Given the description of an element on the screen output the (x, y) to click on. 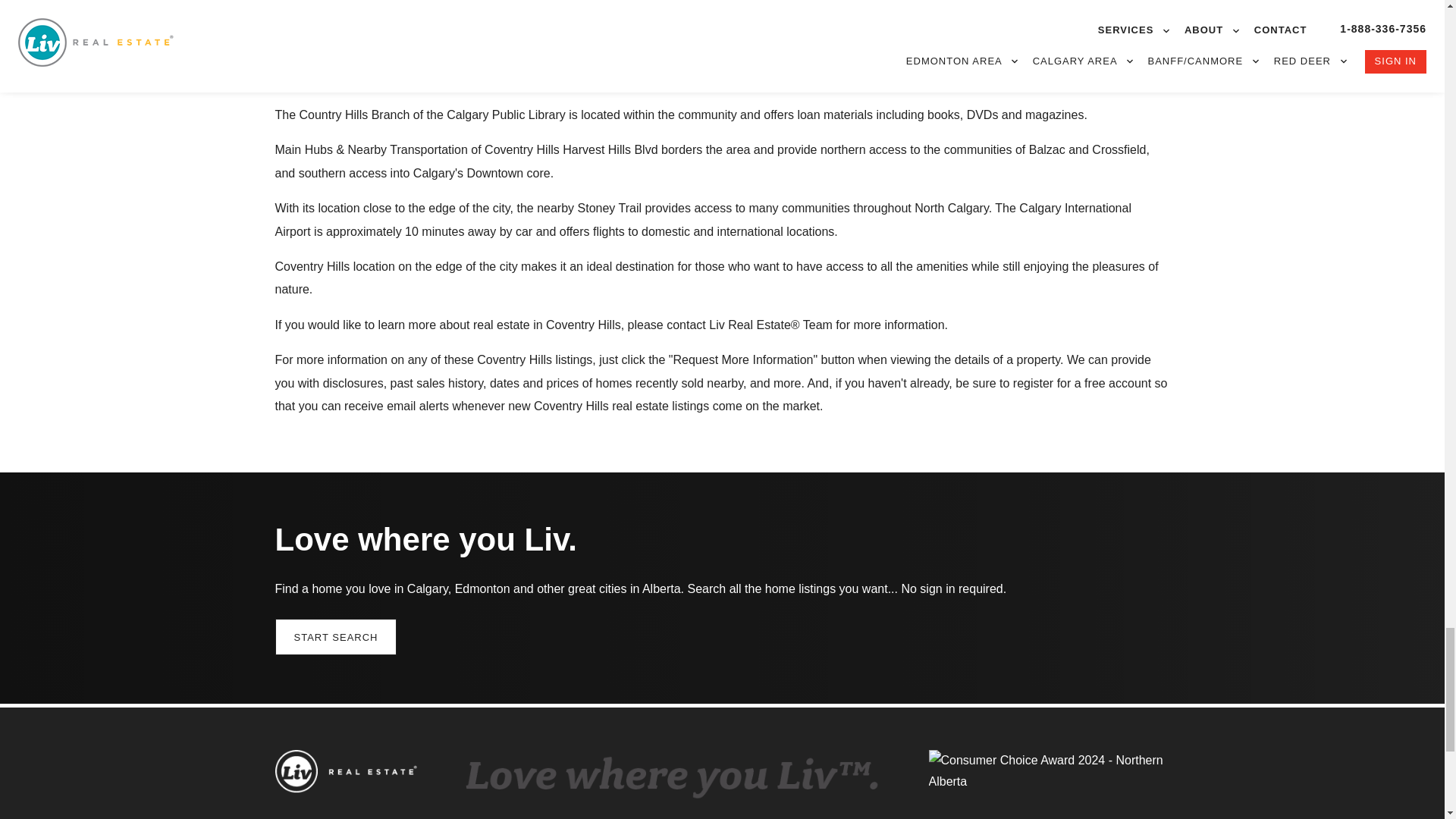
Consumer Choice Award 2023 - Northern Alberta (1049, 778)
